Given the description of an element on the screen output the (x, y) to click on. 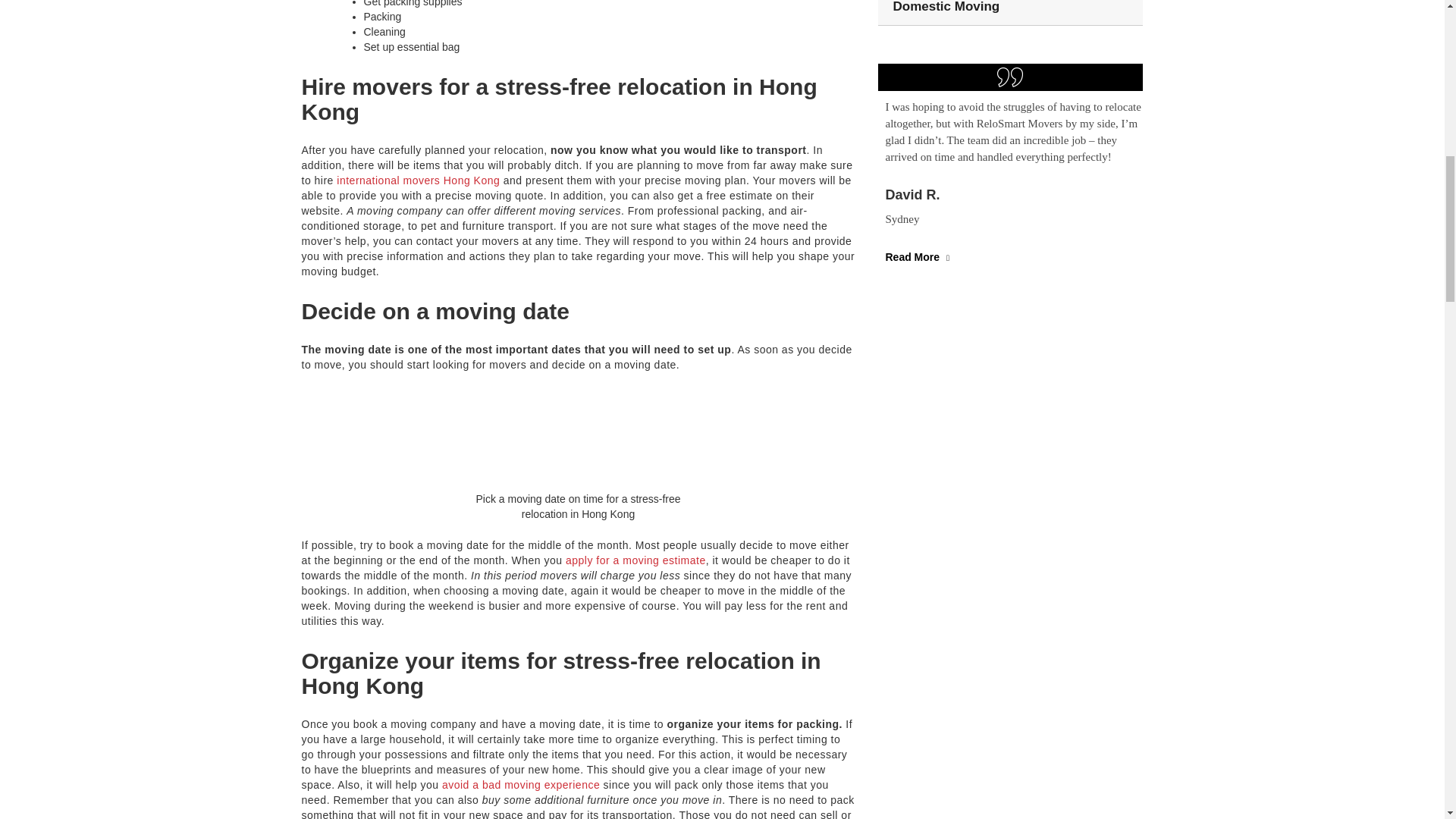
Read More (919, 256)
apply for a moving estimate (636, 560)
international movers Hong Kong (417, 180)
avoid a bad moving experience (520, 784)
Domestic Moving (946, 6)
